Given the description of an element on the screen output the (x, y) to click on. 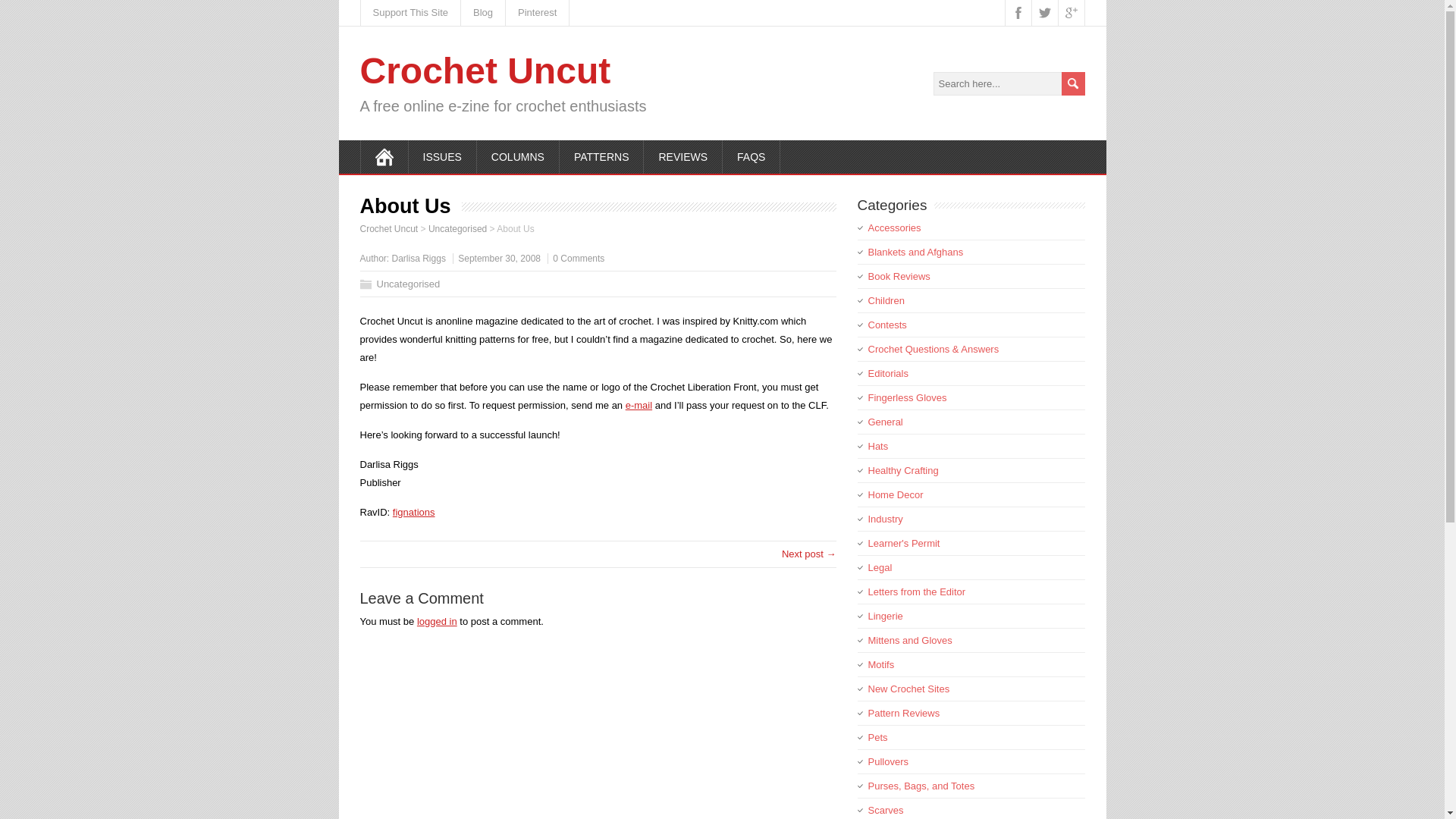
Crochet Uncut (388, 228)
ISSUES (441, 156)
Go to Crochet Uncut. (388, 228)
PATTERNS (602, 156)
Accessories (893, 227)
Support This Site (411, 12)
0 Comments (578, 258)
Go to the Uncategorised Category archives. (457, 228)
COLUMNS (518, 156)
Posts by Darlisa Riggs (418, 258)
Pinterest (537, 12)
Darlisa Riggs (418, 258)
Crochet Uncut (484, 70)
FAQS (751, 156)
Blog (483, 12)
